Given the description of an element on the screen output the (x, y) to click on. 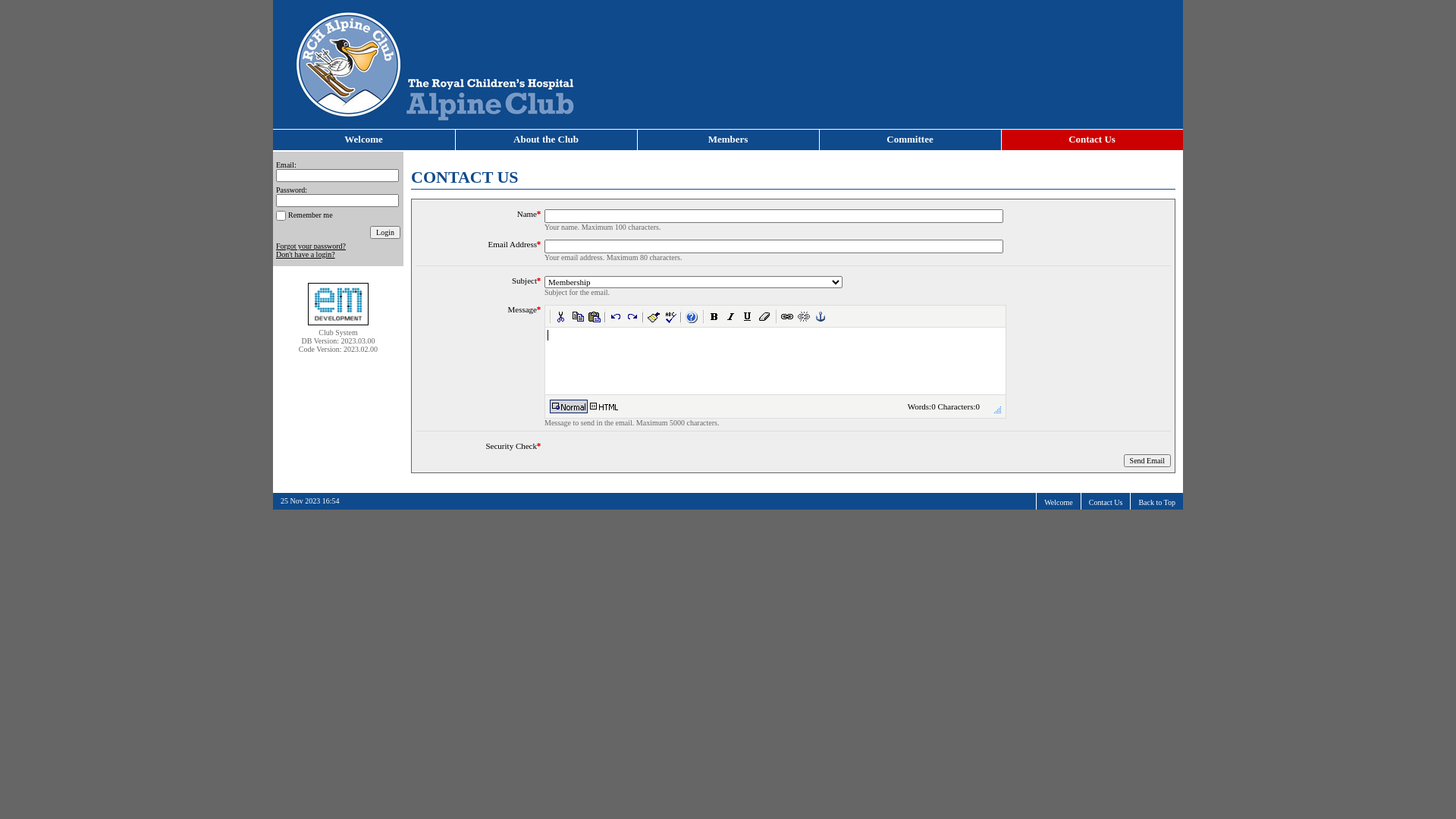
Resize Element type: hover (997, 409)
Forgot your password? Element type: text (310, 245)
separator Element type: hover (680, 316)
Copy Element type: hover (577, 316)
separator Element type: hover (604, 316)
Insert Anchor Element type: hover (820, 316)
Send Email Element type: text (1146, 460)
Contact Us Element type: text (1105, 502)
Paste Element type: hover (594, 316)
Undo Element type: hover (615, 316)
Cut Element type: hover (560, 316)
Underline Element type: hover (747, 316)
Welcome Element type: text (364, 139)
About the Club Element type: text (546, 139)
Spell Check Element type: hover (669, 316)
Help Element type: hover (691, 316)
Contact Us Element type: text (1092, 139)
Committee Element type: text (910, 139)
Italic Element type: hover (730, 316)
Remove Link Element type: hover (803, 316)
Members Element type: text (728, 139)
Insert Hyperlink Element type: hover (786, 316)
Back to Top Element type: text (1156, 502)
Normal Element type: hover (568, 406)
Redo Element type: hover (632, 316)
Clean Up HTML Element type: hover (653, 316)
HTML Element type: hover (603, 406)
Remove Format Element type: hover (763, 316)
Login Element type: text (385, 231)
Don't have a login? Element type: text (305, 254)
separator Element type: hover (642, 316)
Welcome Element type: text (1058, 502)
Bold Element type: hover (713, 316)
